Given the description of an element on the screen output the (x, y) to click on. 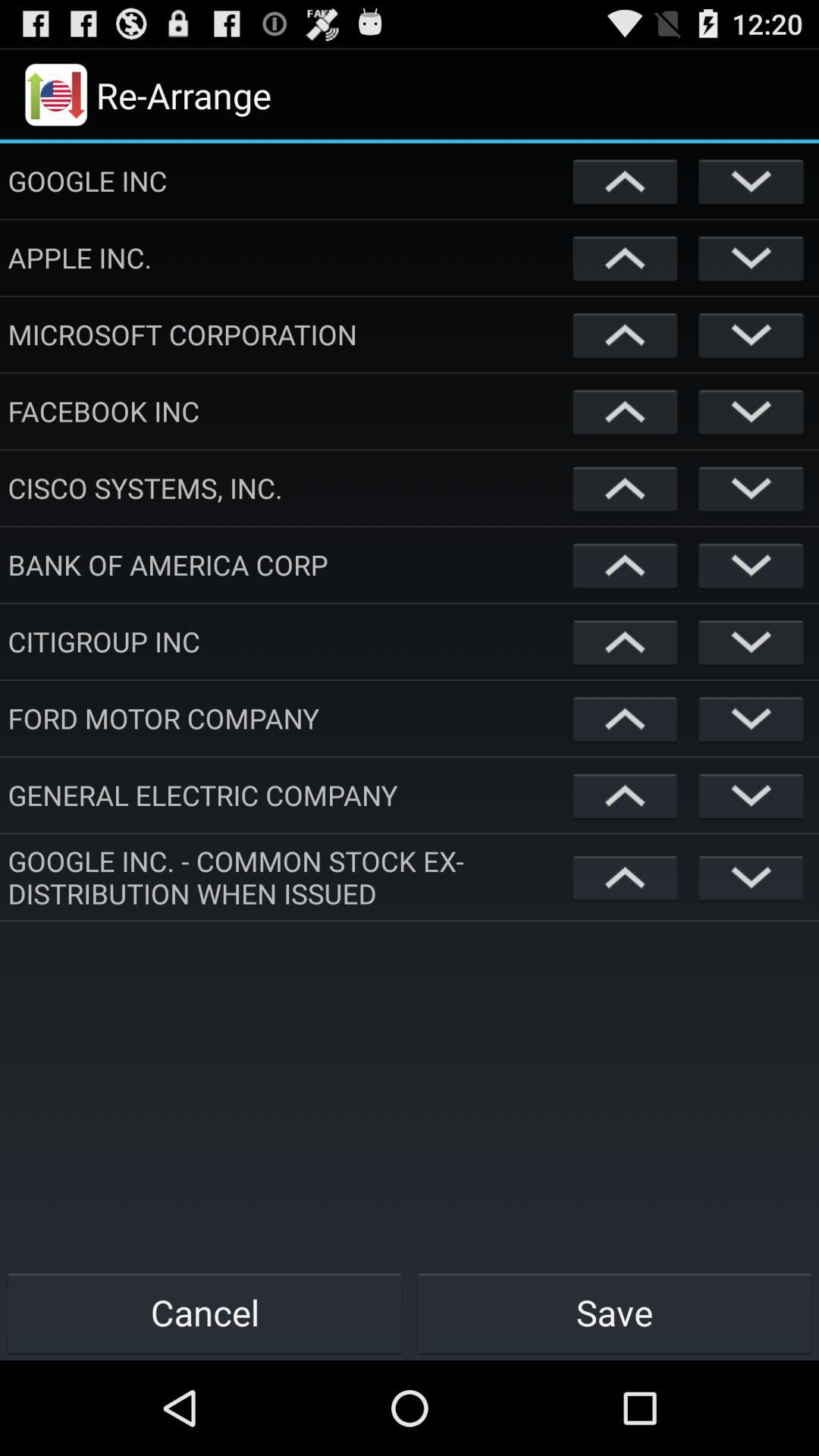
press the cisco systems, inc. item (286, 487)
